Given the description of an element on the screen output the (x, y) to click on. 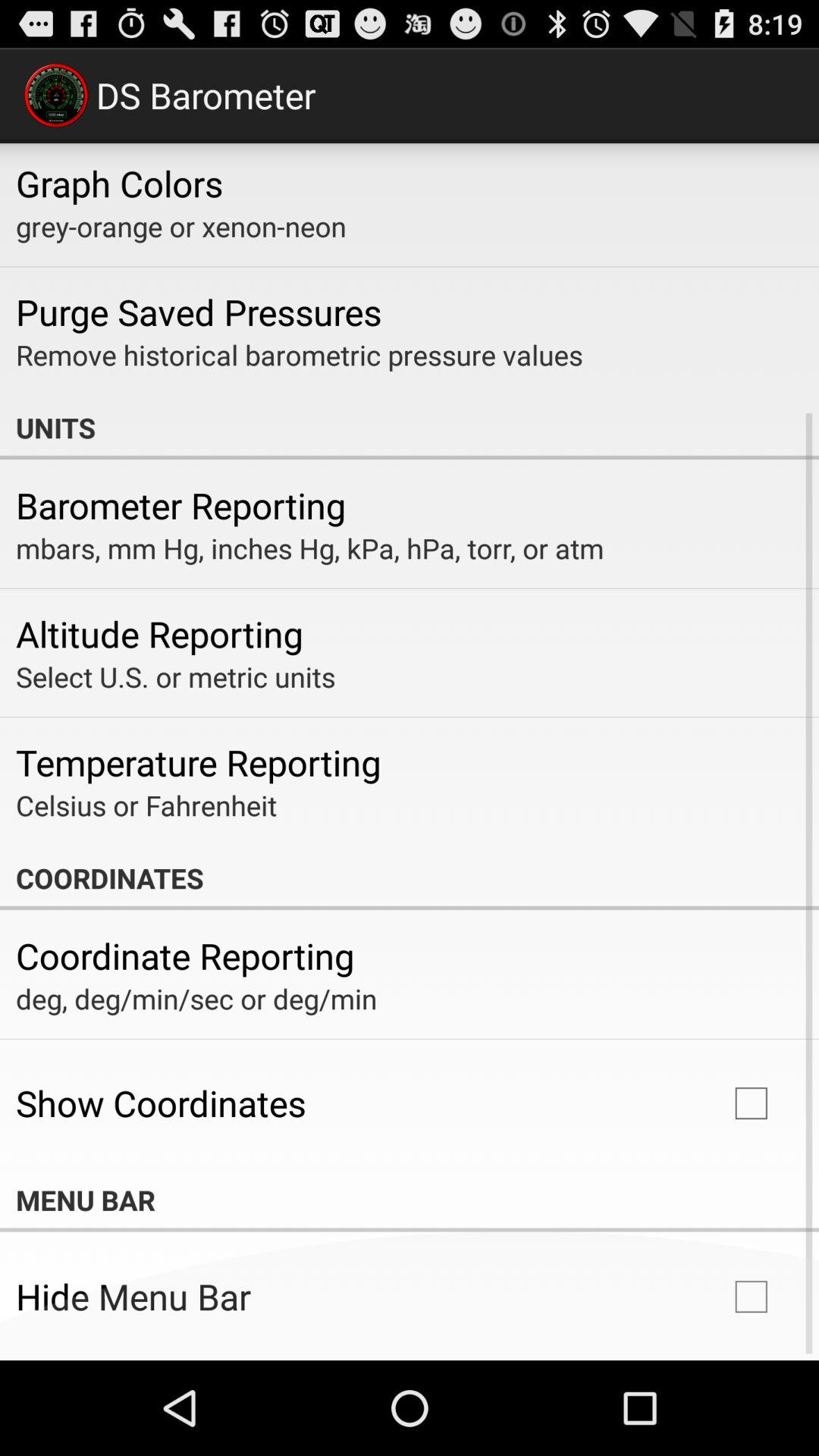
tap the item below select u s (198, 762)
